Given the description of an element on the screen output the (x, y) to click on. 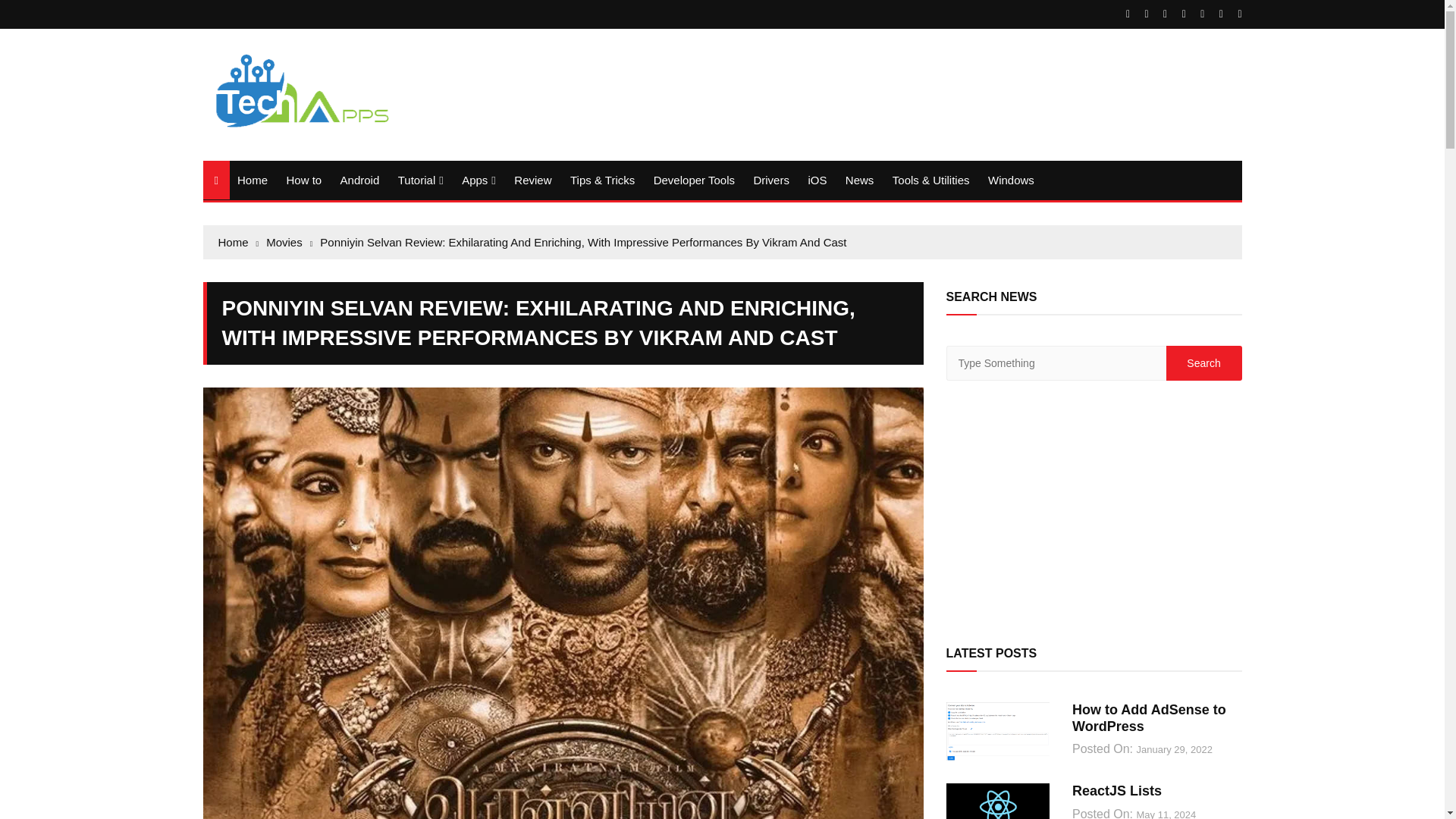
Advertisement (964, 85)
Home (252, 179)
News (860, 179)
Drivers (770, 179)
Apps (478, 179)
How to (303, 179)
Tutorial (420, 179)
Android (360, 179)
Windows (1010, 179)
Developer Tools (694, 179)
Advertisement (1093, 509)
Review (532, 179)
Search (1203, 362)
